Given the description of an element on the screen output the (x, y) to click on. 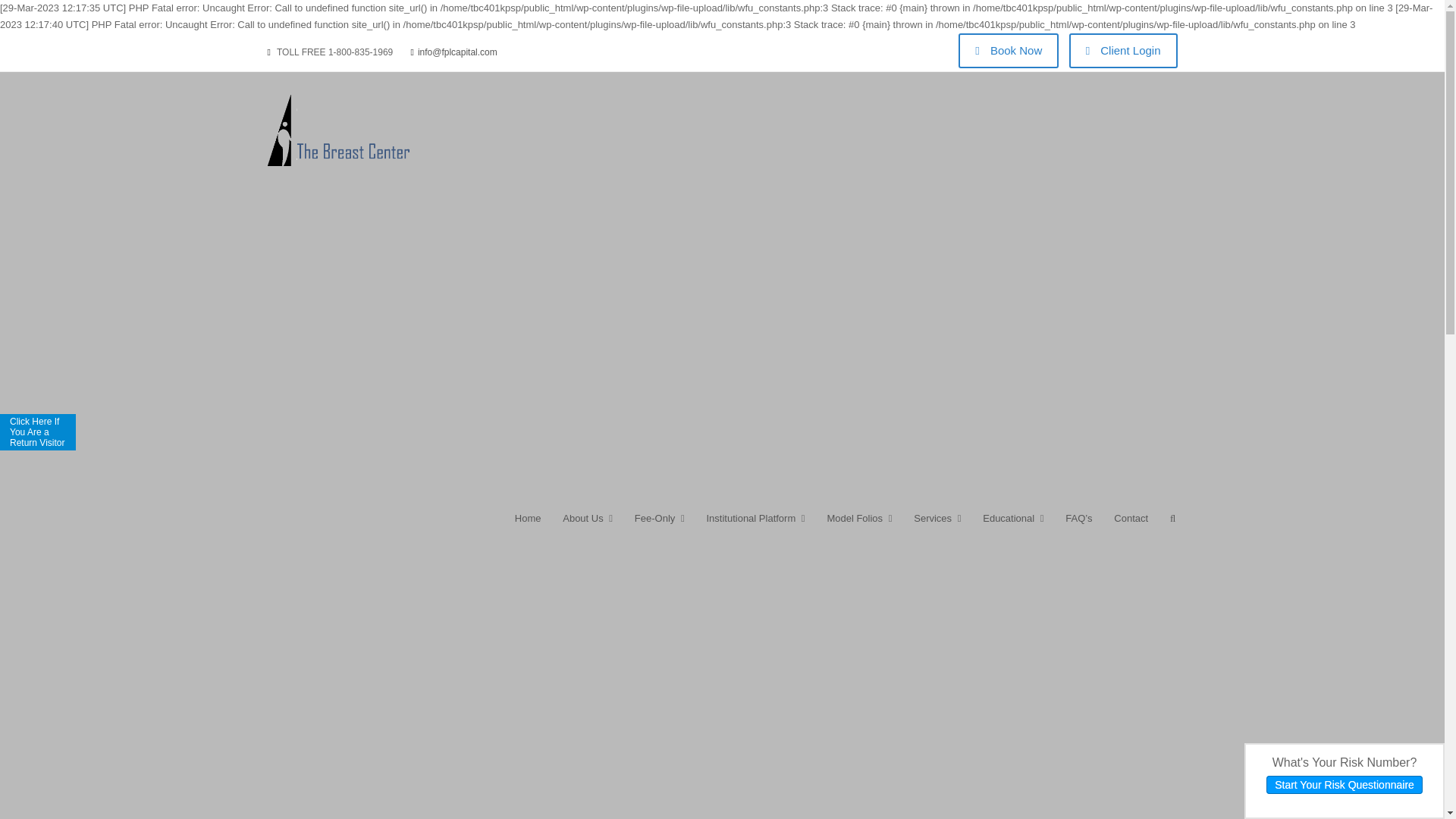
Institutional Platform (755, 526)
About Us (587, 526)
Book Now (1008, 50)
Client Login (1122, 50)
Fee-Only (659, 526)
Home (527, 526)
Model Folios (858, 526)
